Given the description of an element on the screen output the (x, y) to click on. 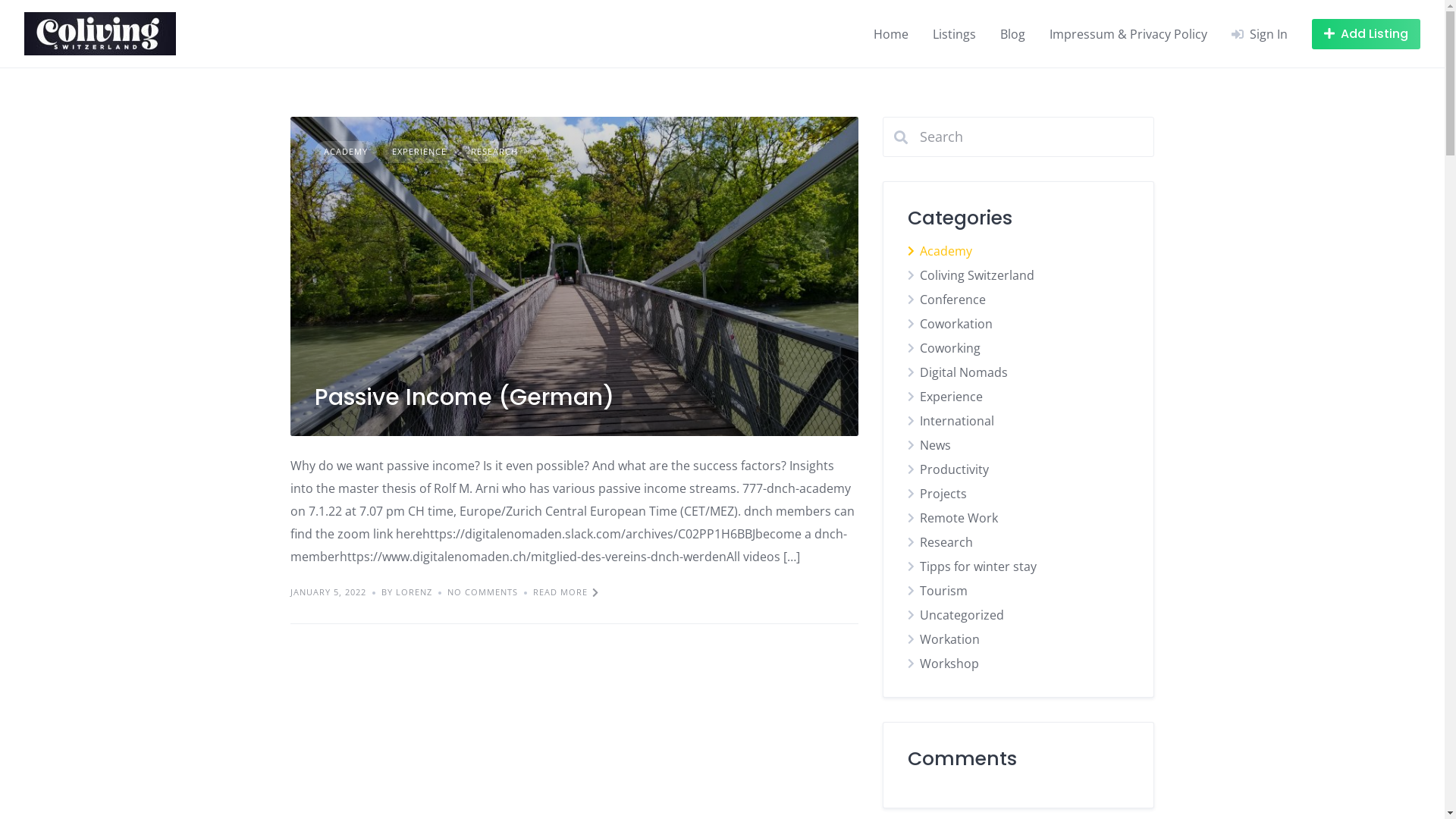
Workshop Element type: text (949, 663)
EXPERIENCE Element type: text (418, 152)
Sign In Element type: text (1259, 33)
Coworkation Element type: text (955, 323)
News Element type: text (934, 444)
Uncategorized Element type: text (961, 614)
Experience Element type: text (950, 396)
Blog Element type: text (1012, 33)
Listings Element type: text (953, 33)
READ MORE Element type: text (565, 592)
Research Element type: text (945, 541)
Tipps for winter stay Element type: text (977, 566)
Add Listing Element type: text (1365, 33)
Home Element type: text (890, 33)
Impressum & Privacy Policy Element type: text (1128, 33)
Productivity Element type: text (953, 469)
RESEARCH Element type: text (493, 152)
NO COMMENTS Element type: text (487, 592)
Digital Nomads Element type: text (963, 372)
International Element type: text (956, 420)
Workation Element type: text (949, 638)
Tourism Element type: text (943, 590)
Coworking Element type: text (949, 347)
Passive Income (German) Element type: text (463, 397)
ACADEMY Element type: text (344, 152)
Projects Element type: text (942, 493)
Remote Work Element type: text (958, 517)
Conference Element type: text (952, 299)
Coliving Switzerland Element type: text (976, 274)
Academy Element type: text (945, 250)
